Given the description of an element on the screen output the (x, y) to click on. 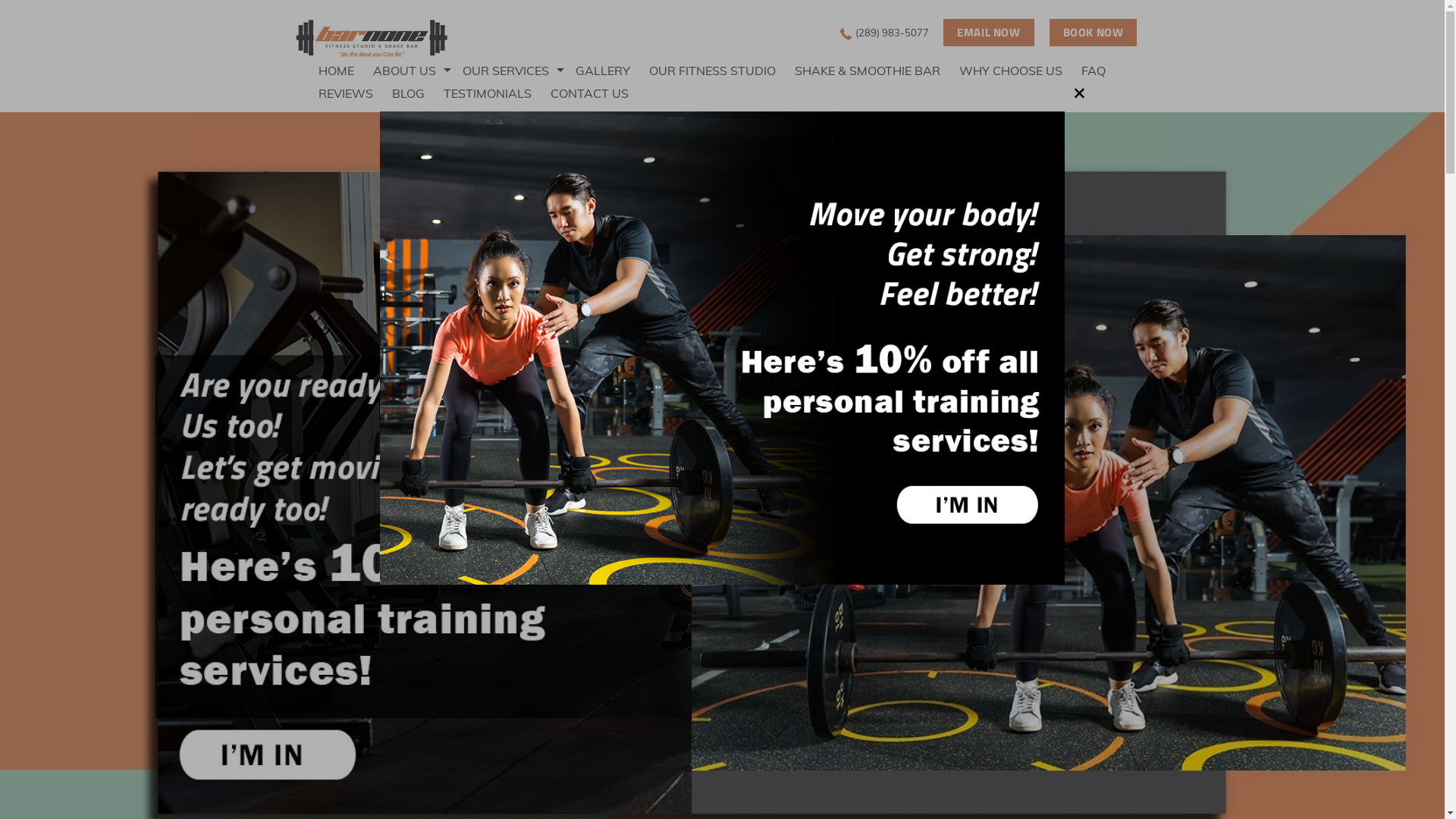
CONTACT US Element type: text (598, 92)
OUR SERVICES Element type: text (518, 70)
GALLERY Element type: text (612, 70)
(289) 983-5077 Element type: text (890, 32)
WHY CHOOSE US Element type: text (1020, 70)
HOME Element type: text (345, 70)
SHAKE & SMOOTHIE BAR Element type: text (876, 70)
FAQ Element type: text (1102, 70)
ABOUT US Element type: text (417, 70)
BOOK NOW Element type: text (1093, 32)
BLOG Element type: text (417, 92)
REVIEWS Element type: text (355, 92)
EMAIL NOW Element type: text (988, 32)
TESTIMONIALS Element type: text (496, 92)
OUR FITNESS STUDIO Element type: text (721, 70)
